Given the description of an element on the screen output the (x, y) to click on. 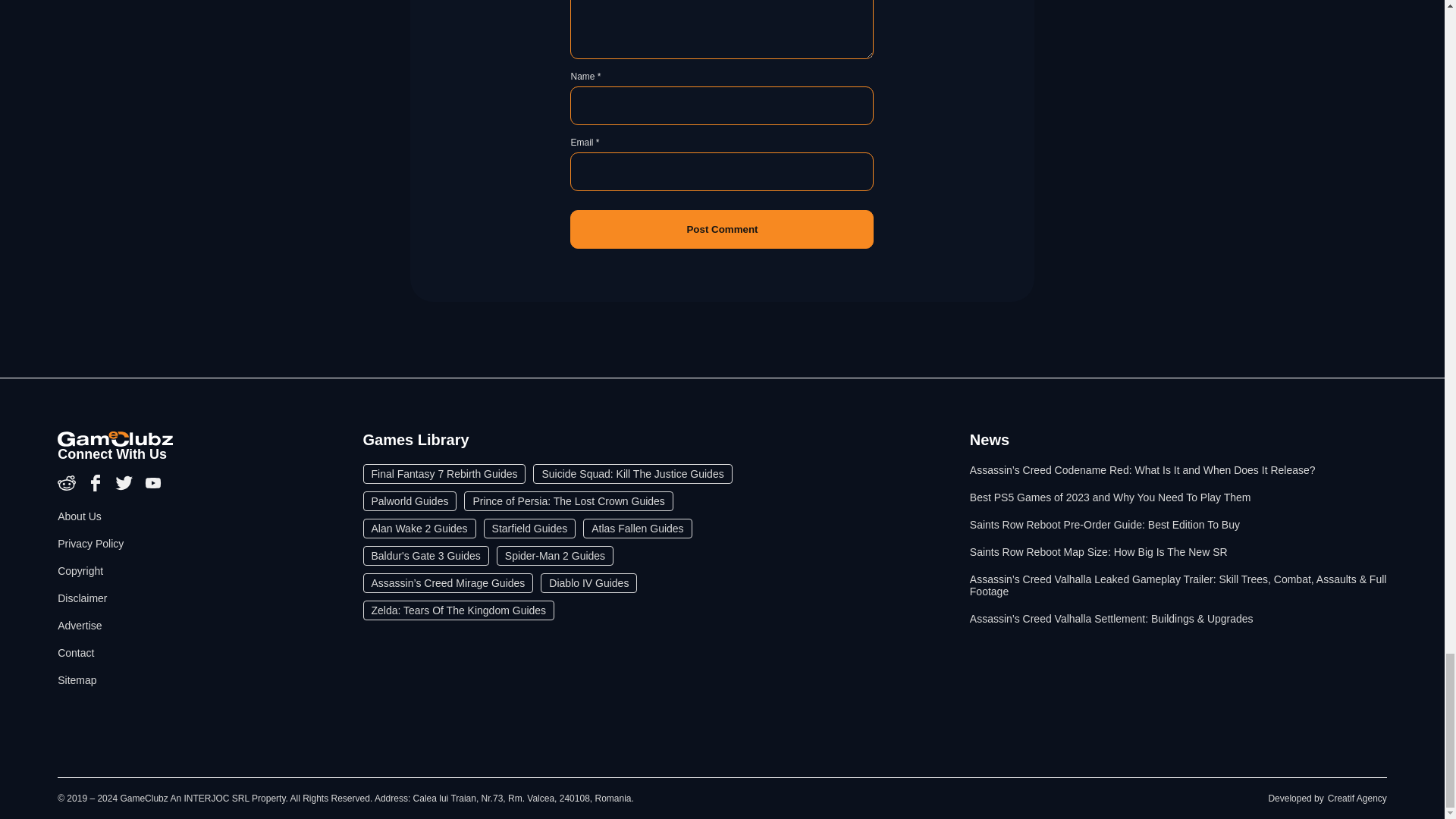
Post Comment (721, 228)
instagram (68, 488)
Creatif Agency web design (1357, 798)
facebook (96, 488)
twitter (125, 488)
youtube (152, 488)
